Given the description of an element on the screen output the (x, y) to click on. 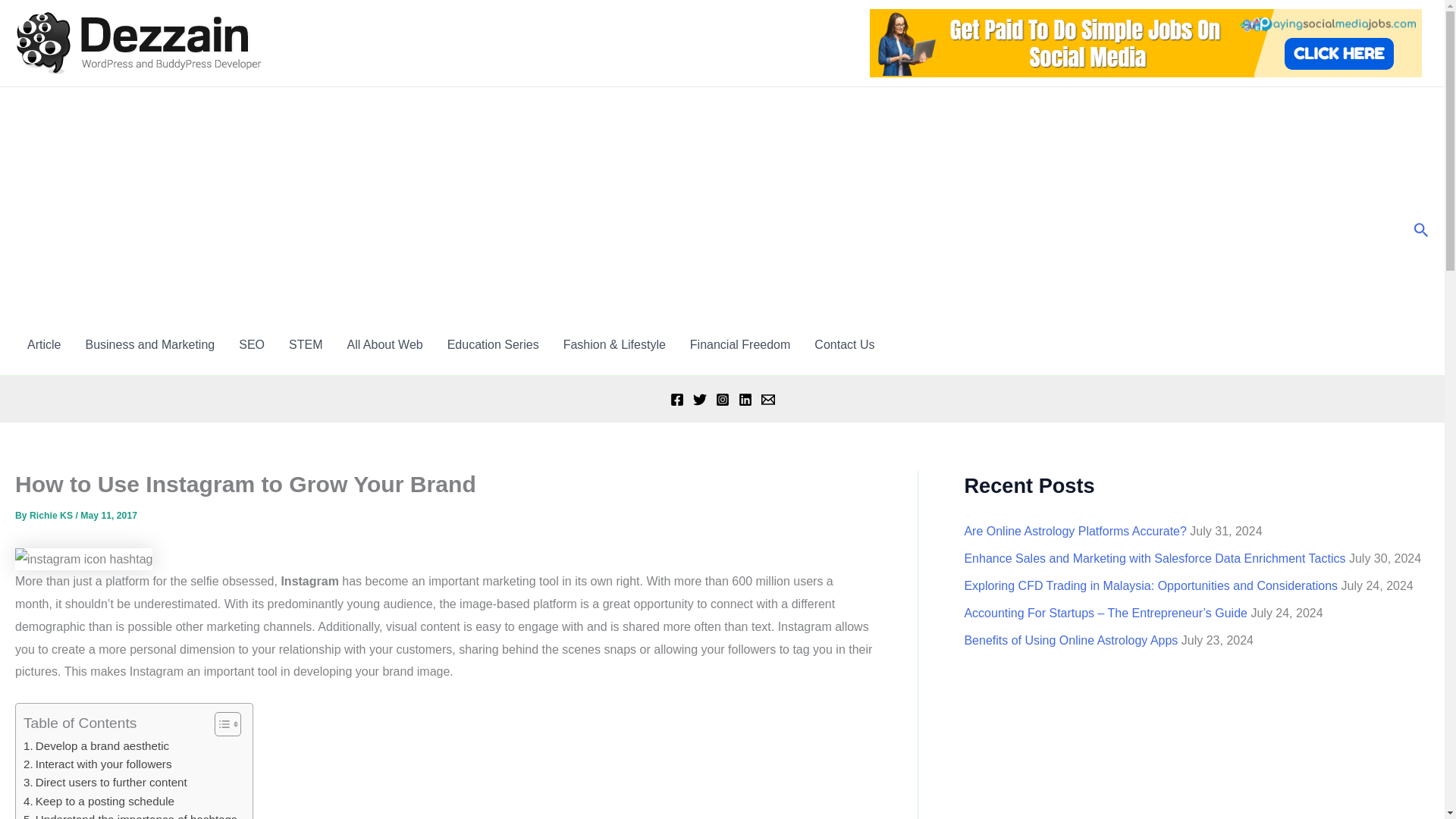
Financial Freedom (740, 344)
Interact with your followers (97, 764)
Interact with your followers (97, 764)
Direct users to further content (105, 782)
Understand the importance of hashtags (130, 814)
Develop a brand aesthetic (95, 746)
STEM (305, 344)
Understand the importance of hashtags (130, 814)
Direct users to further content (105, 782)
Contact Us (844, 344)
Keep to a posting schedule (98, 801)
Business and Marketing (149, 344)
View all posts by Richie KS (52, 515)
Richie KS (52, 515)
Education Series (493, 344)
